Given the description of an element on the screen output the (x, y) to click on. 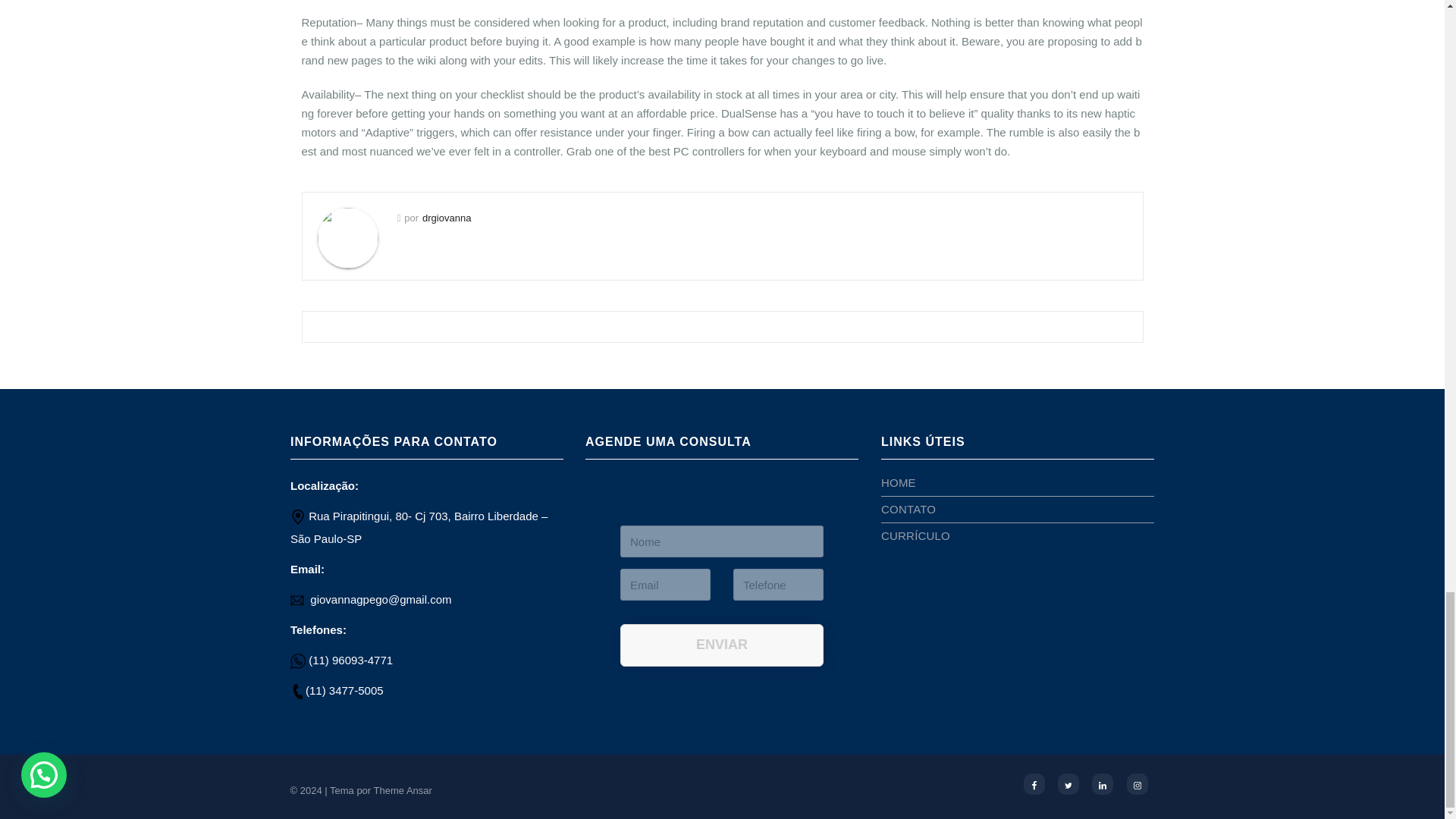
Facebook (1034, 783)
ENVIAR (722, 645)
Theme Ansar (403, 790)
HOME (897, 481)
Instagram (1137, 783)
linkedin (1102, 783)
twitter (1068, 783)
CONTATO (908, 508)
drgiovanna (446, 217)
